Given the description of an element on the screen output the (x, y) to click on. 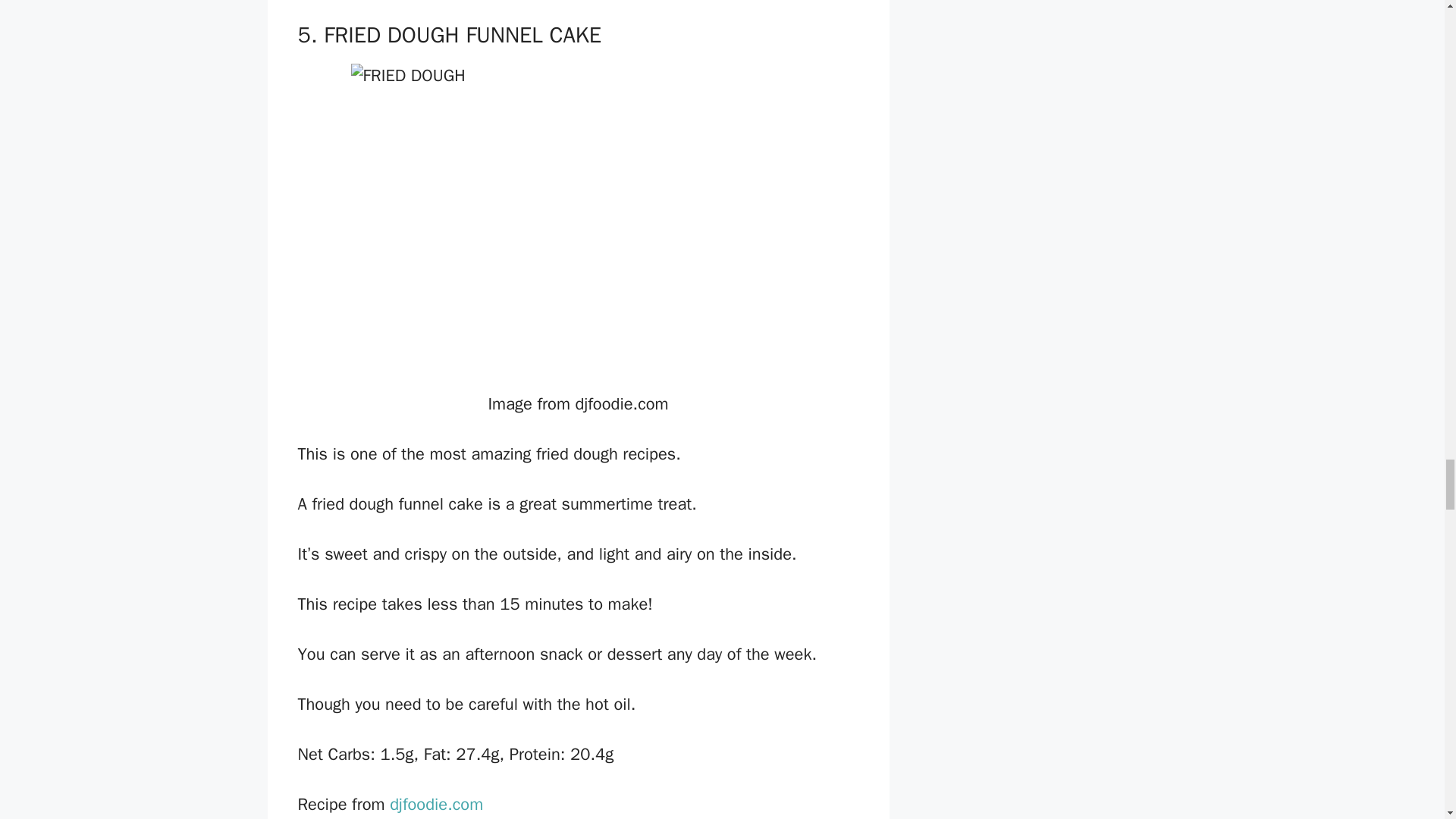
djfoodie.com (434, 803)
